Given the description of an element on the screen output the (x, y) to click on. 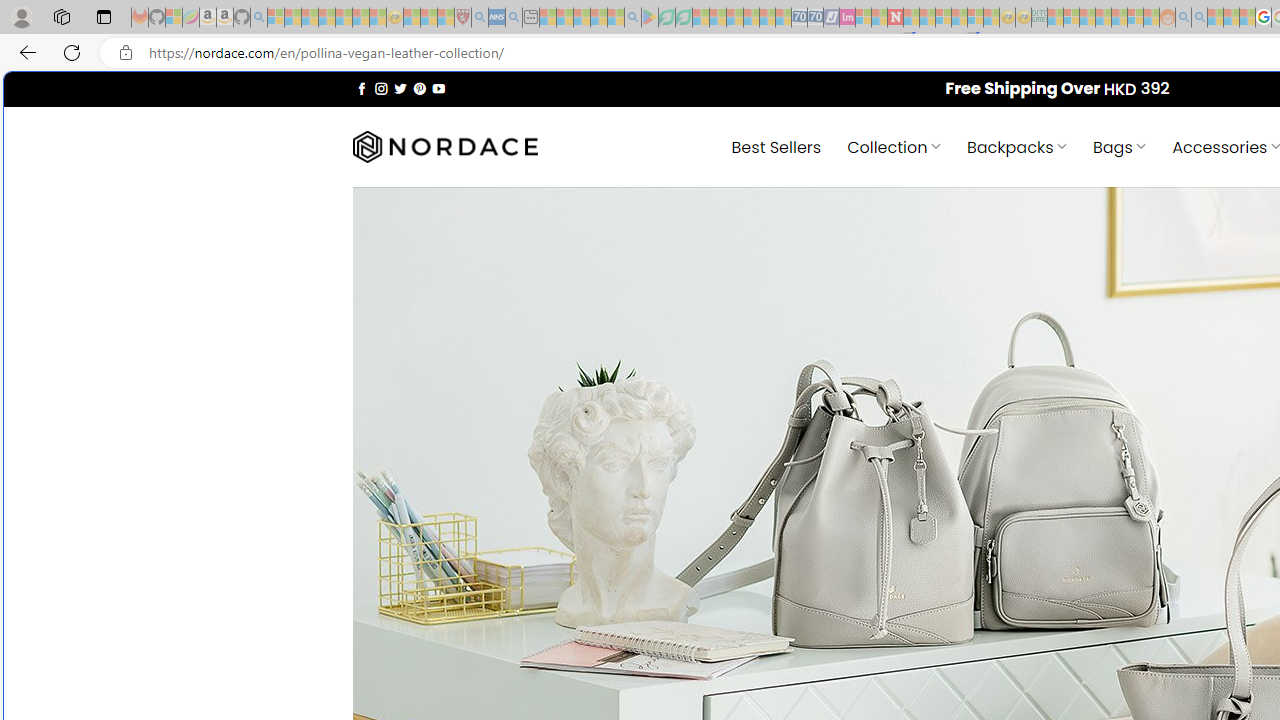
  Best Sellers (775, 146)
